Given the description of an element on the screen output the (x, y) to click on. 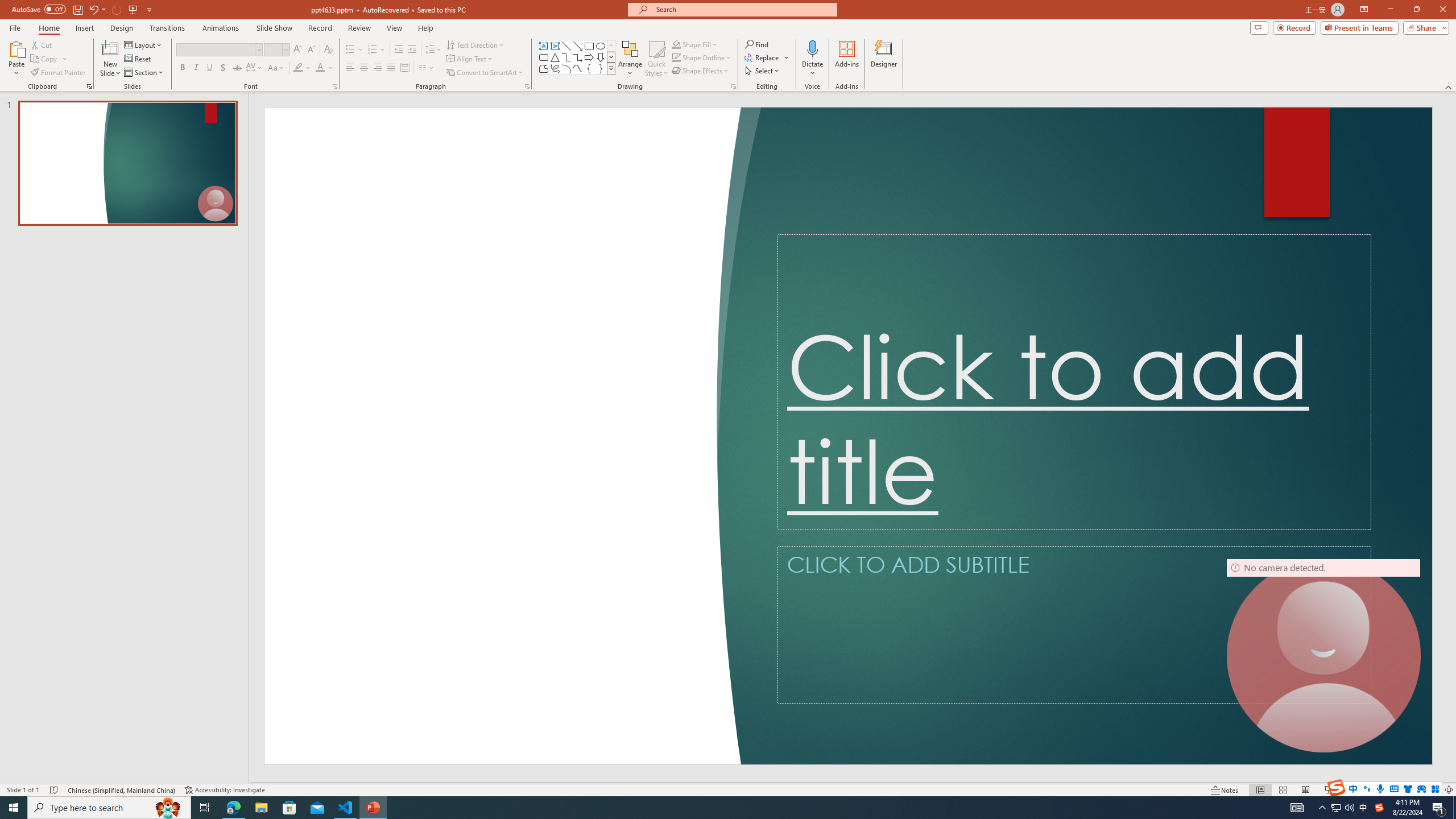
Increase Font Size (297, 49)
Strikethrough (237, 67)
Arc (566, 68)
Shape Effects (700, 69)
